Given the description of an element on the screen output the (x, y) to click on. 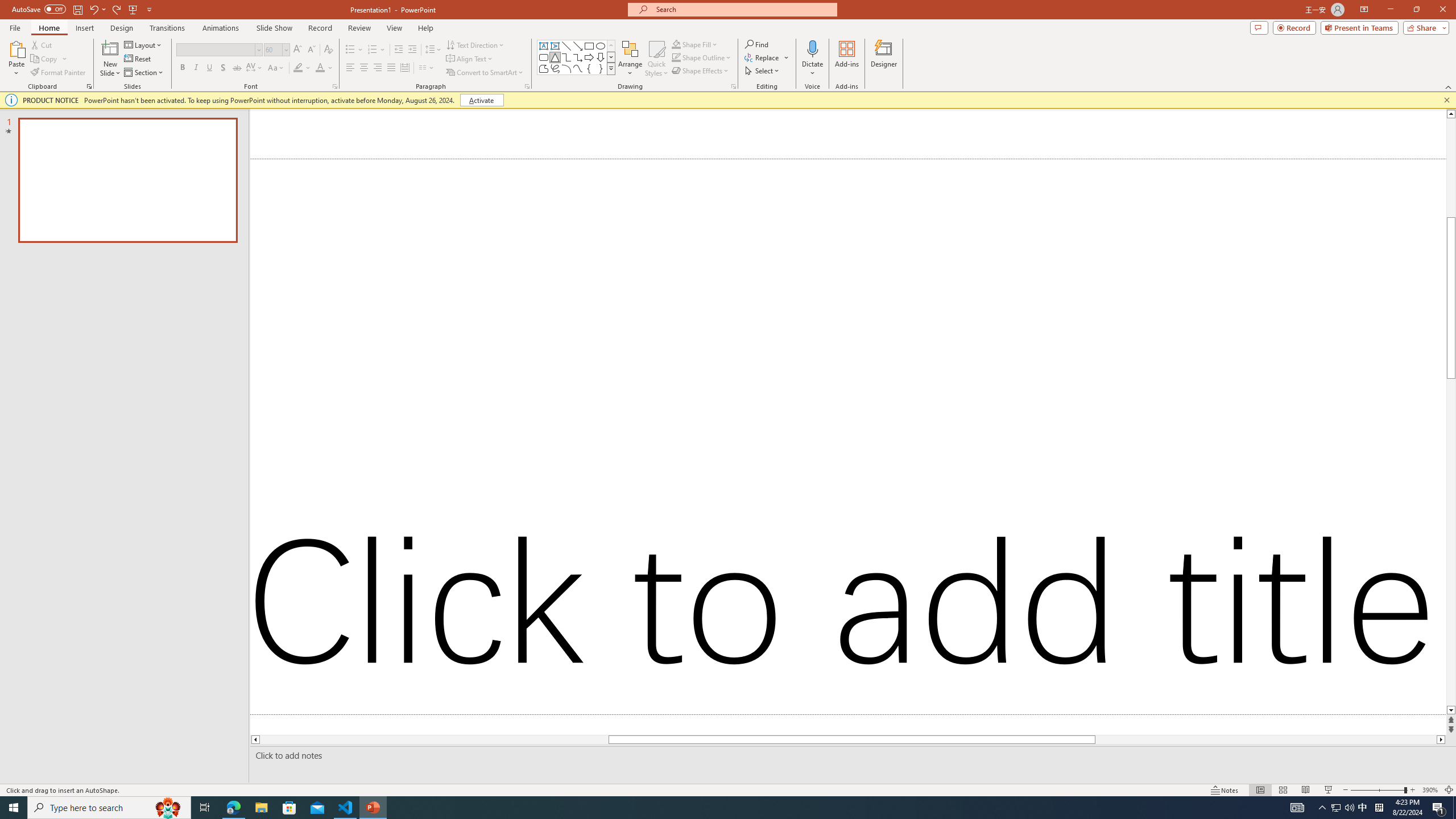
Row up (611, 45)
Shape Effects (700, 69)
Center (363, 67)
New Slide (110, 48)
Isosceles Triangle (554, 57)
Decrease Indent (398, 49)
Class: MsoCommandBar (728, 789)
Zoom 390% (1430, 790)
AutomationID: ShapesInsertGallery (576, 57)
Align Left (349, 67)
Convert to SmartArt (485, 72)
Curve (577, 68)
